Given the description of an element on the screen output the (x, y) to click on. 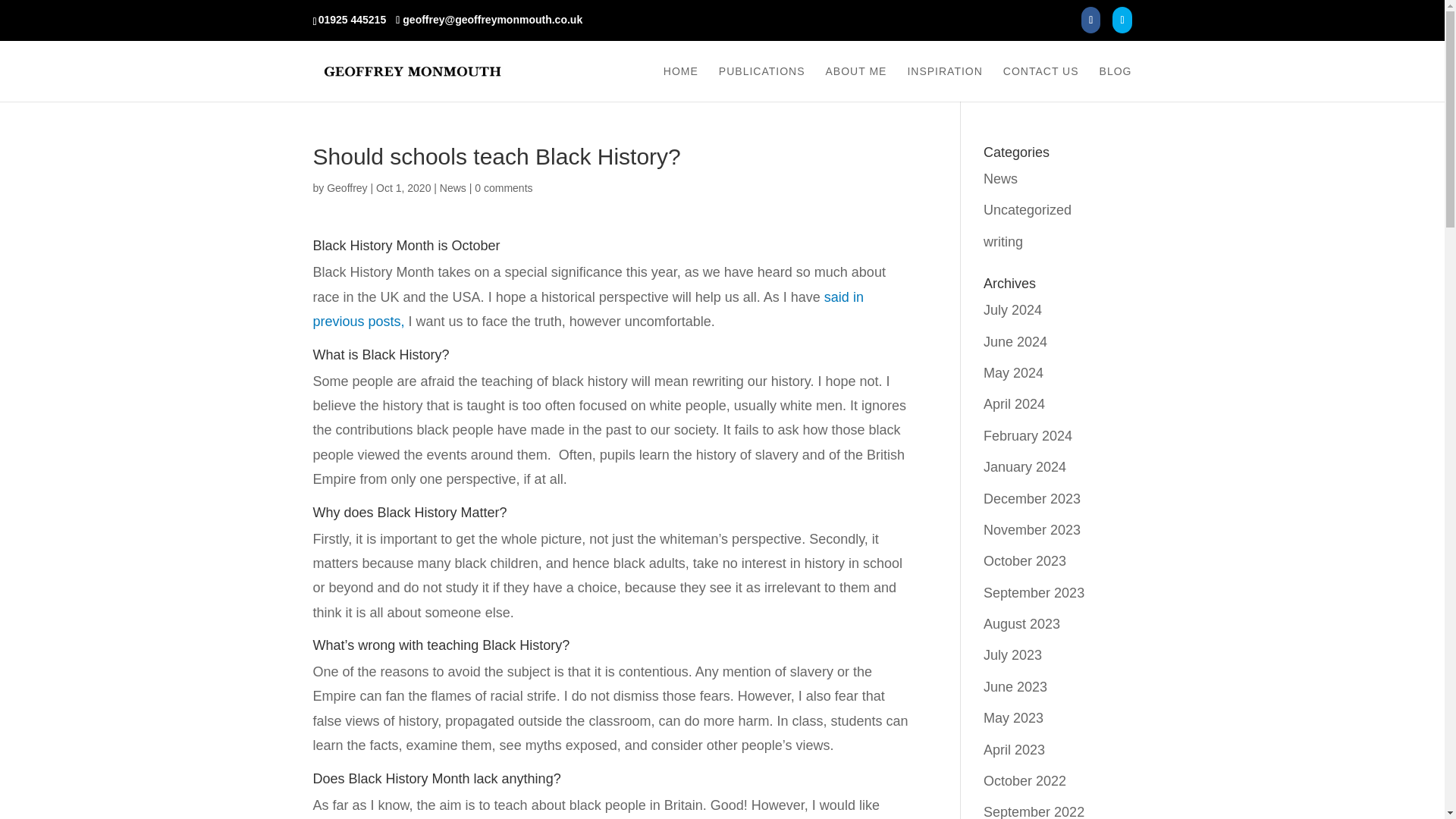
October 2023 (1024, 560)
January 2024 (1024, 467)
Geoffrey (346, 187)
0 comments (503, 187)
INSPIRATION (944, 83)
November 2023 (1032, 529)
HOME (680, 83)
ABOUT ME (855, 83)
June 2024 (1015, 341)
May 2024 (1013, 372)
writing (1003, 241)
December 2023 (1032, 498)
Posts by Geoffrey (346, 187)
News (1000, 178)
August 2023 (1021, 623)
